Given the description of an element on the screen output the (x, y) to click on. 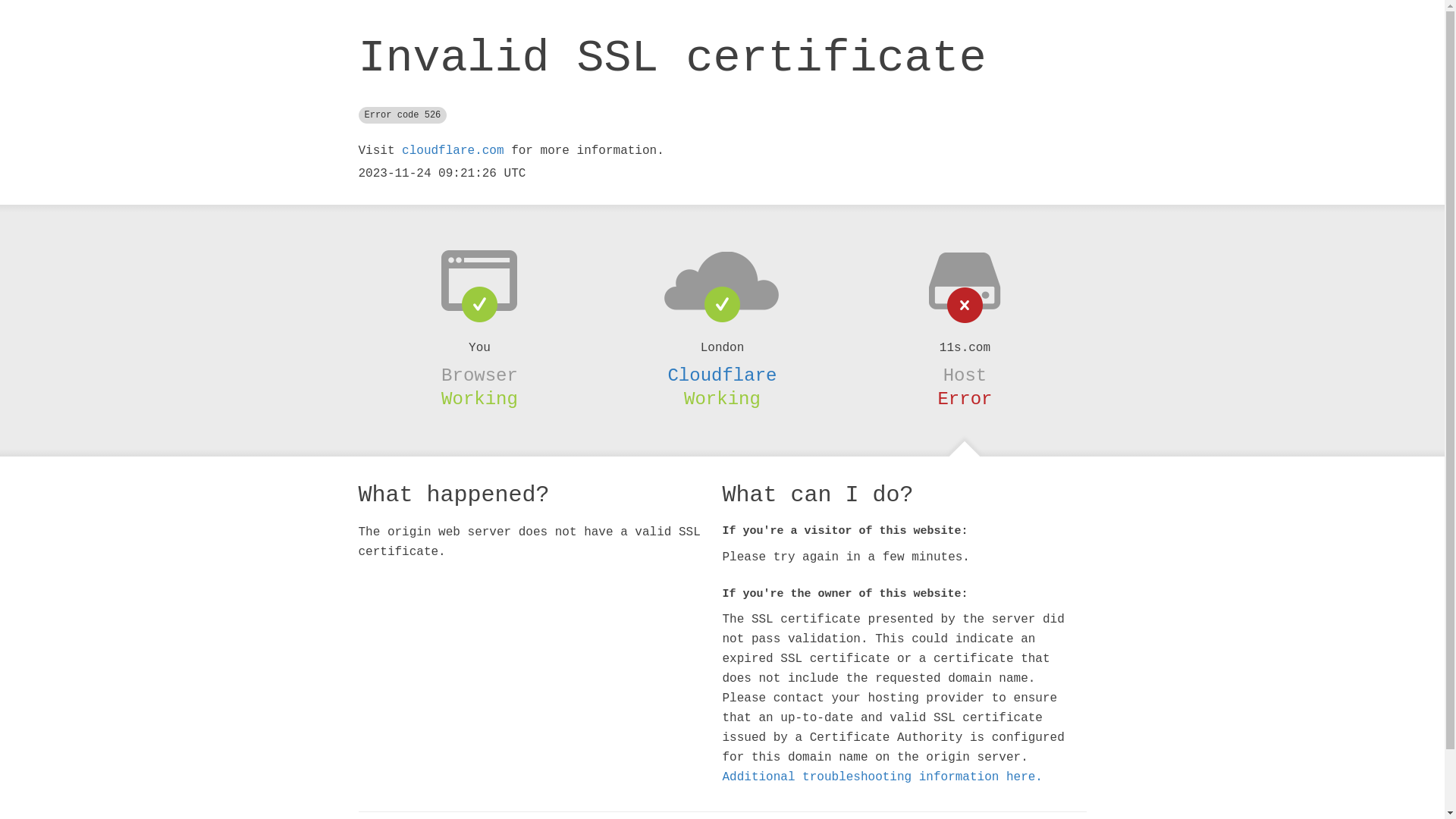
Additional troubleshooting information here. Element type: text (881, 777)
Cloudflare Element type: text (721, 375)
cloudflare.com Element type: text (452, 150)
